Given the description of an element on the screen output the (x, y) to click on. 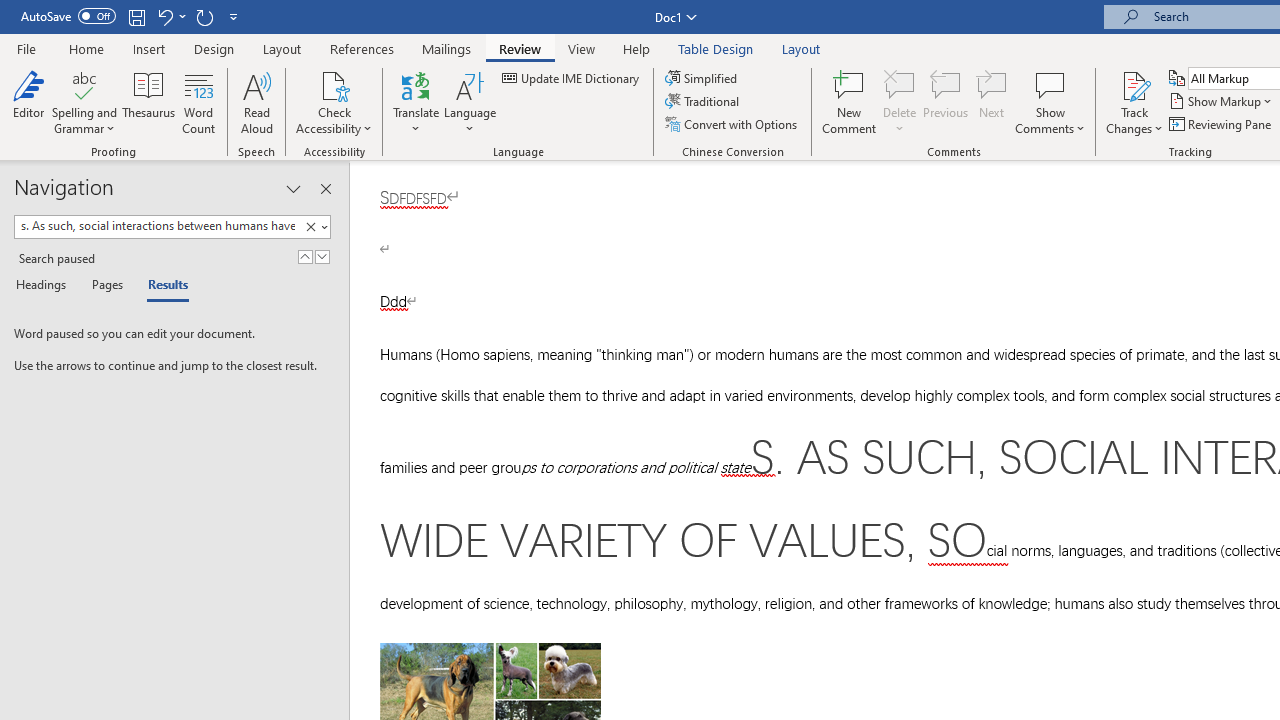
Check Accessibility (334, 102)
Show Comments (1050, 102)
Track Changes (1134, 102)
Word Count (198, 102)
Read Aloud (256, 102)
